Given the description of an element on the screen output the (x, y) to click on. 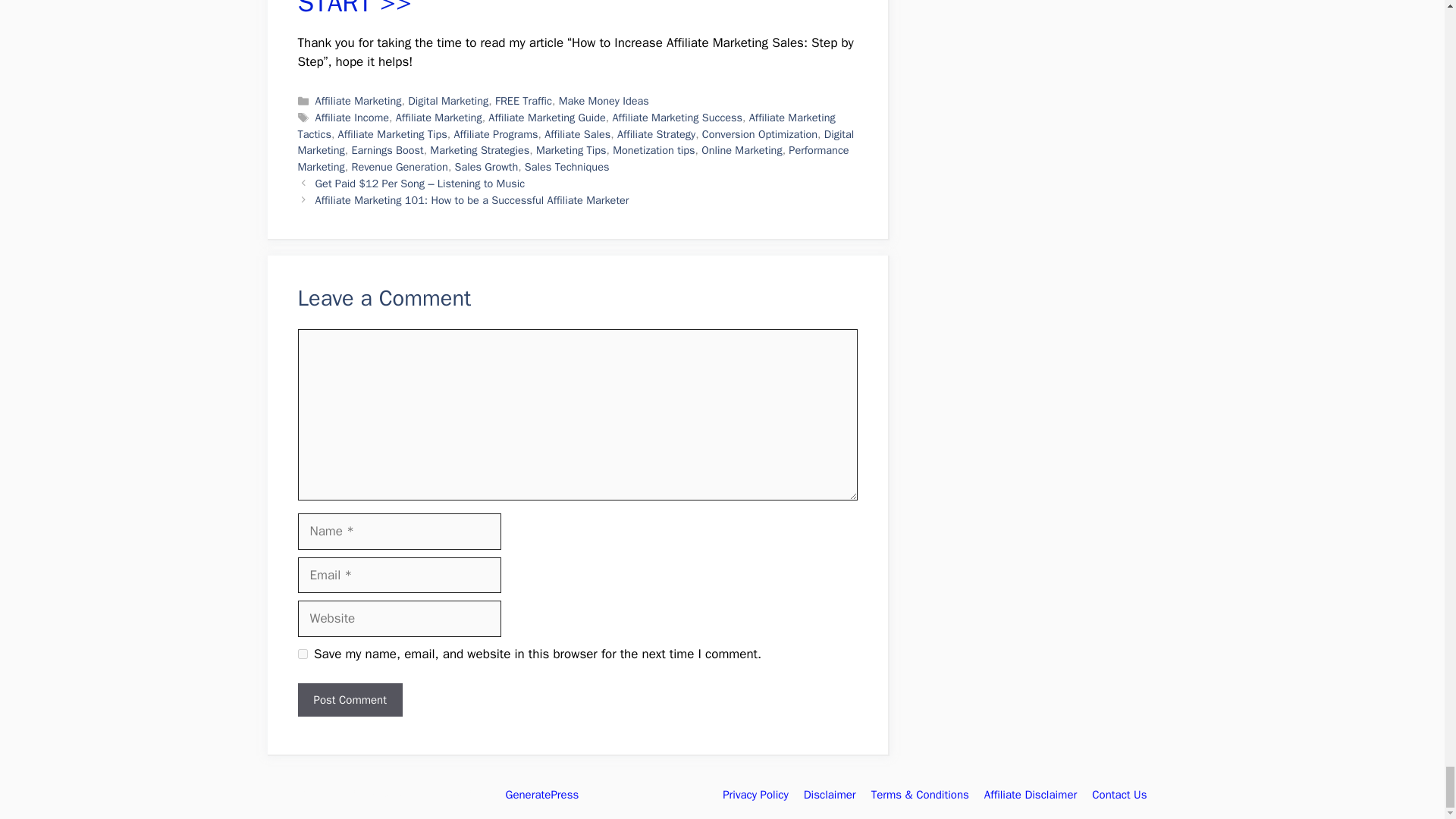
Make Money Ideas (604, 100)
Affiliate Strategy (656, 133)
Affiliate Programs (494, 133)
Affiliate Marketing (358, 100)
Digital Marketing (447, 100)
Affiliate Marketing Tips (391, 133)
Affiliate Marketing Success (677, 117)
FREE Traffic (523, 100)
Affiliate Marketing Tactics (565, 125)
yes (302, 654)
